Given the description of an element on the screen output the (x, y) to click on. 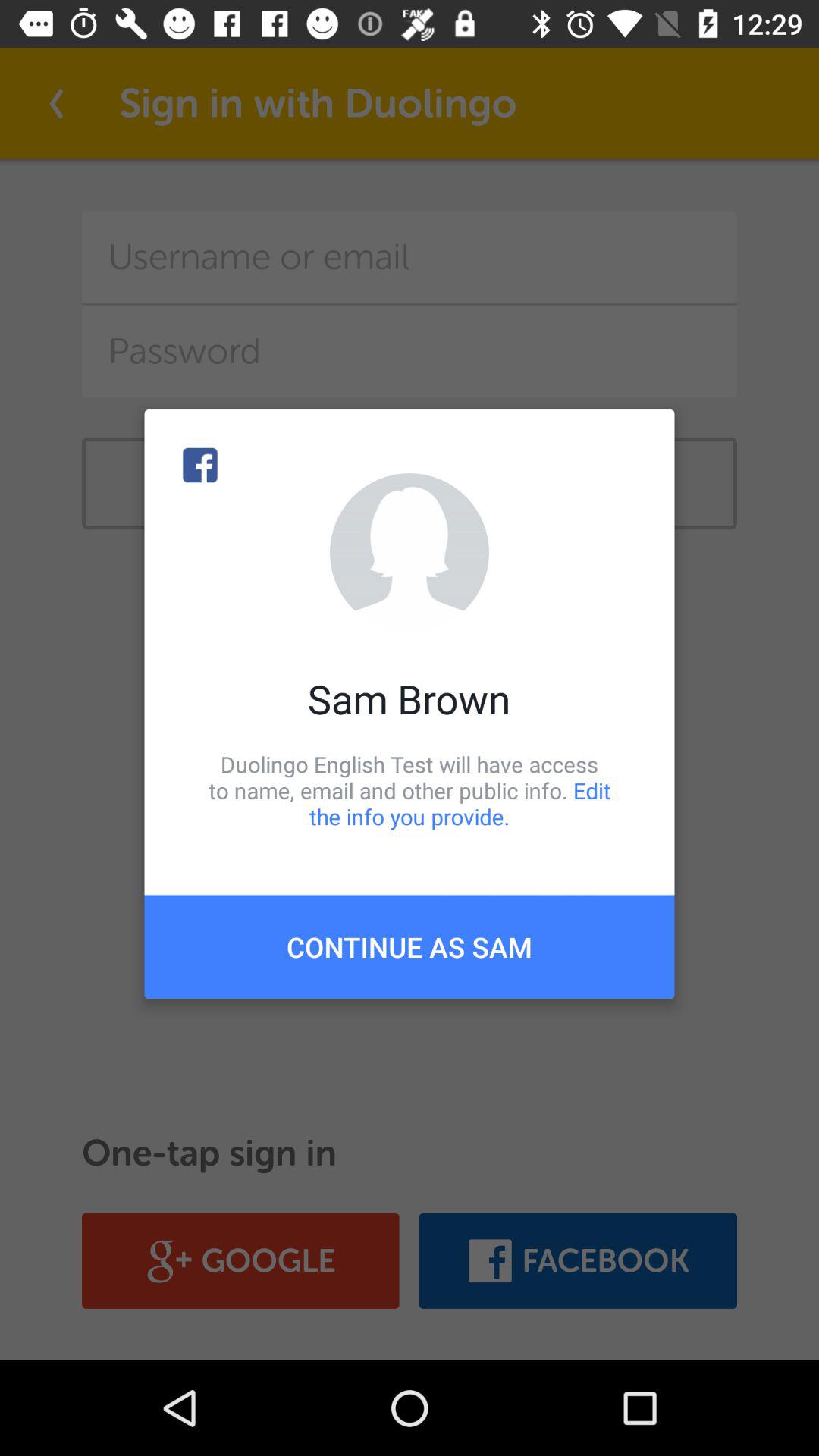
flip to the duolingo english test item (409, 790)
